Given the description of an element on the screen output the (x, y) to click on. 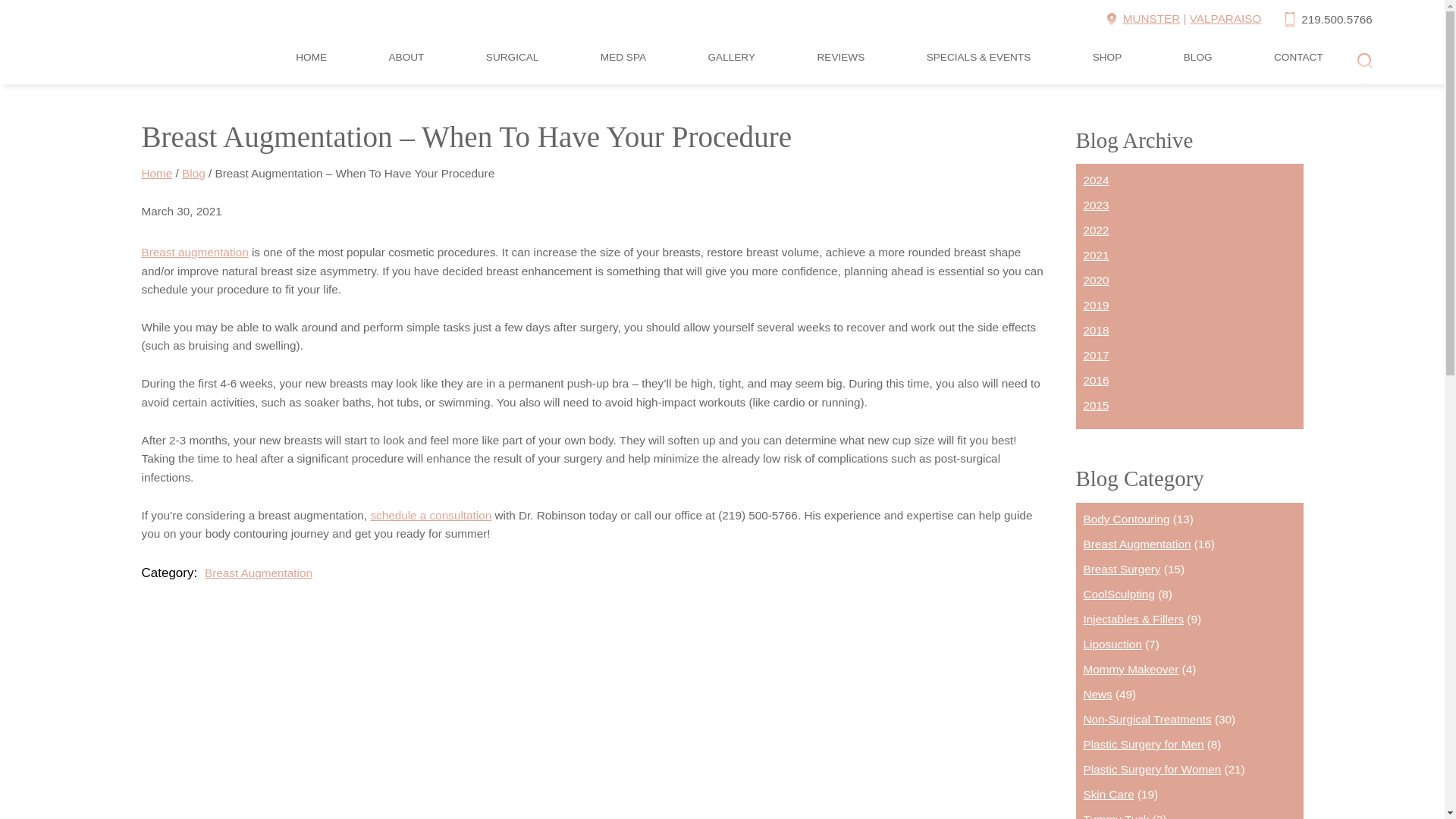
MED SPA (622, 60)
ABOUT (406, 60)
SURGICAL (512, 60)
VALPARAISO (1225, 18)
MUNSTER (1151, 18)
HOME (311, 60)
